Given the description of an element on the screen output the (x, y) to click on. 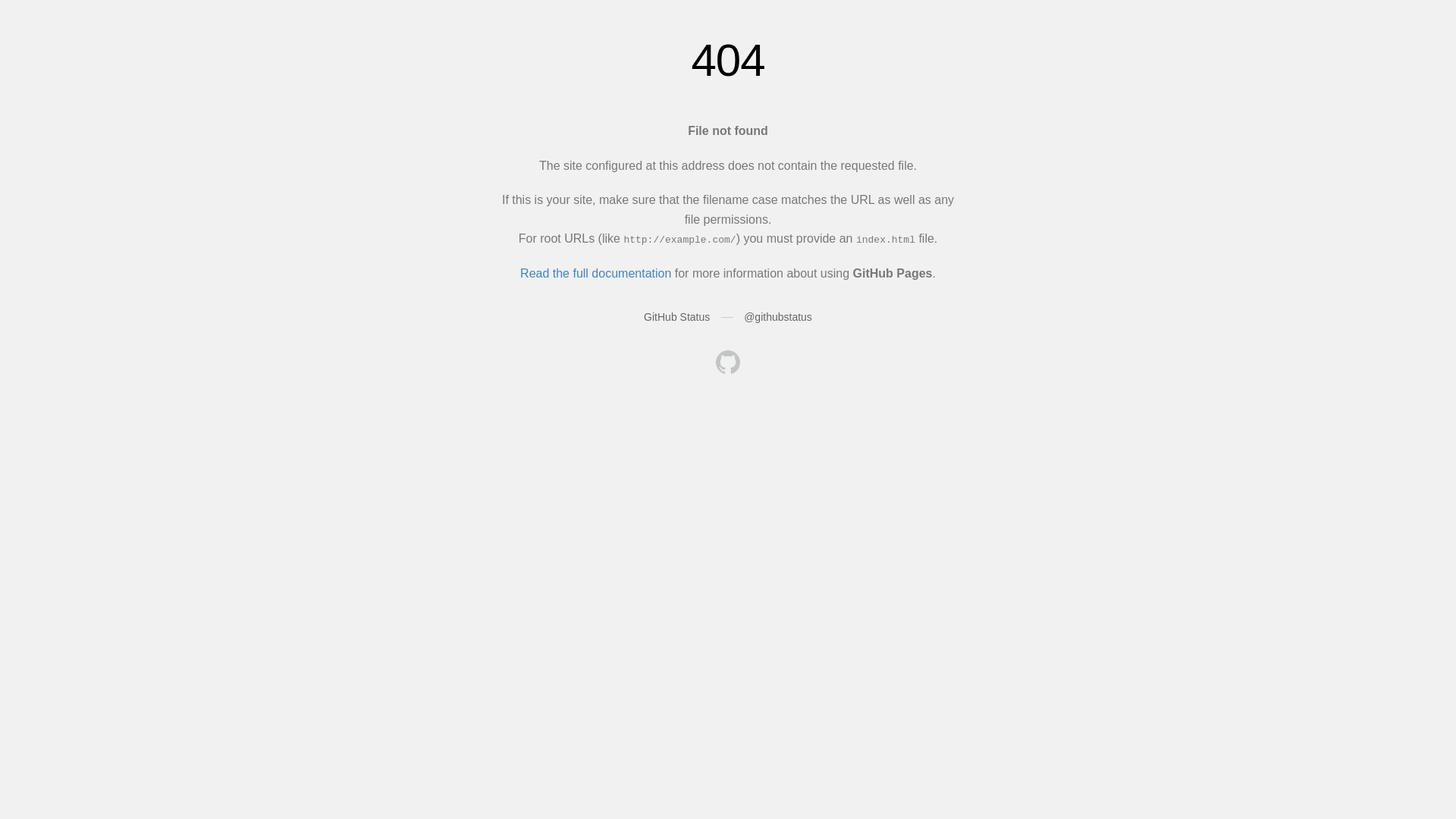
Read the full documentation Element type: text (595, 272)
GitHub Status Element type: text (676, 316)
@githubstatus Element type: text (777, 316)
